Given the description of an element on the screen output the (x, y) to click on. 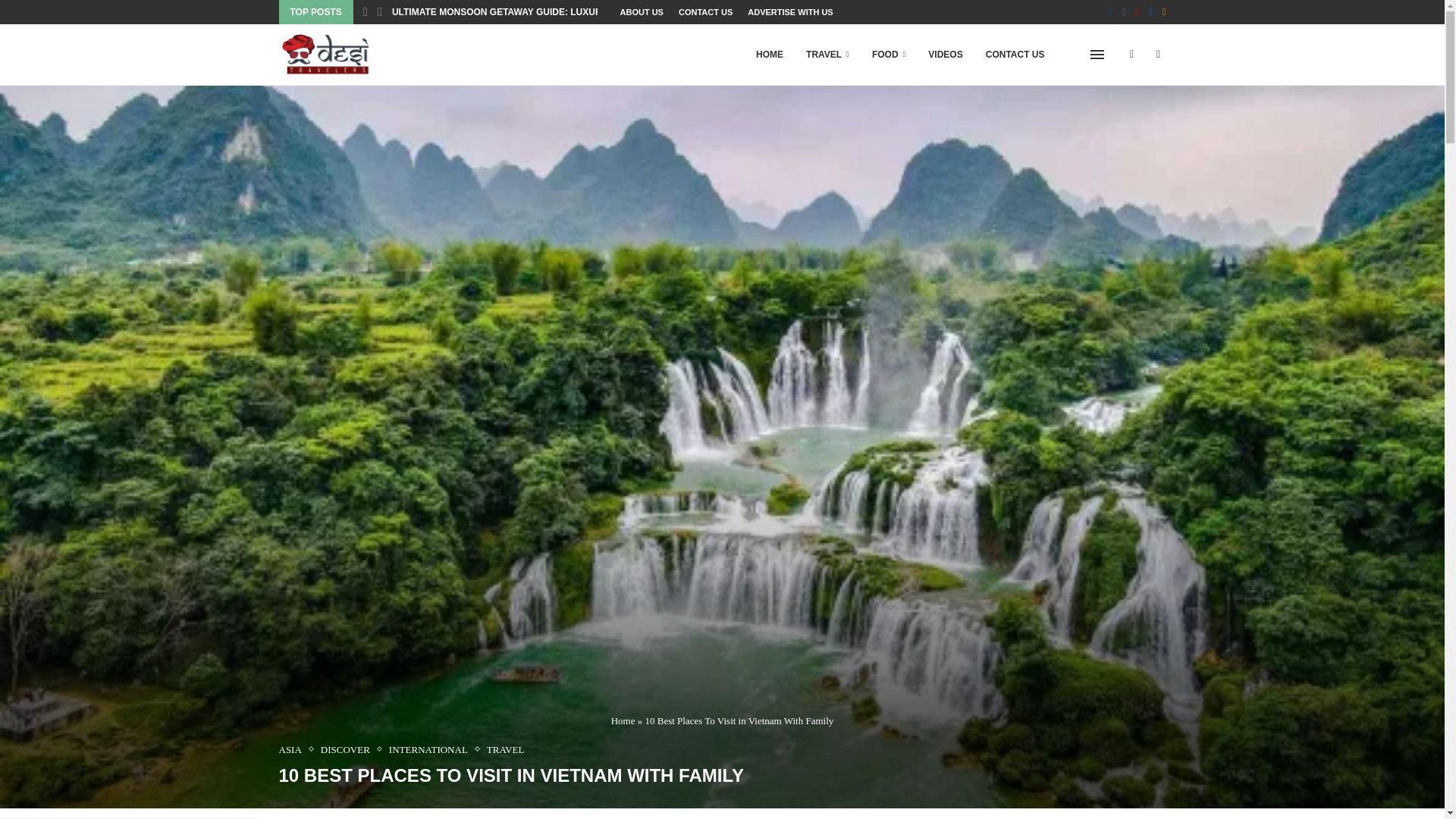
ABOUT US (641, 12)
VIDEOS (945, 54)
INTERNATIONAL (432, 749)
TRAVEL (827, 54)
ADVERTISE WITH US (790, 12)
Home (622, 720)
ASIA (293, 749)
ULTIMATE MONSOON GETAWAY GUIDE: LUXURIOUS RETREATS IN NATURE (558, 12)
FOOD (888, 54)
CONTACT US (1015, 54)
TRAVEL (505, 749)
DISCOVER (348, 749)
CONTACT US (705, 12)
